Given the description of an element on the screen output the (x, y) to click on. 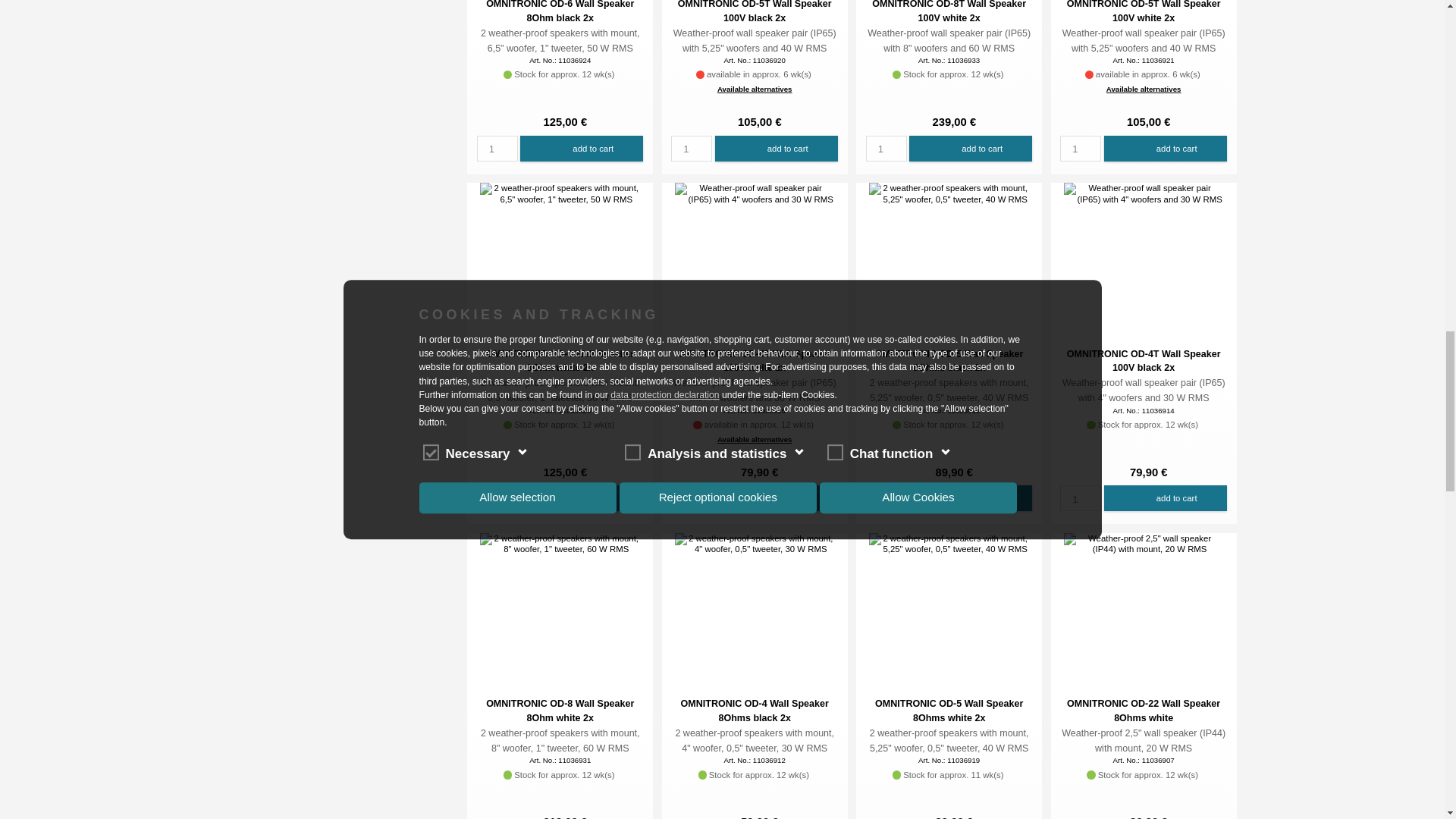
1 (691, 498)
OMNITRONIC OD-6 Wall Speaker 8Ohm white 2x (560, 193)
OMNITRONIC OD-22 Wall Speaker 8Ohms white (1144, 544)
OMNITRONIC OD-4T Wall Speaker 100V white 2x (754, 193)
OMNITRONIC OD-4 Wall Speaker 8Ohms black 2x (754, 544)
1 (1079, 498)
1 (886, 147)
OMNITRONIC OD-5 Wall Speaker 8Ohms white 2x (949, 544)
1 (1079, 147)
1 (497, 147)
